Given the description of an element on the screen output the (x, y) to click on. 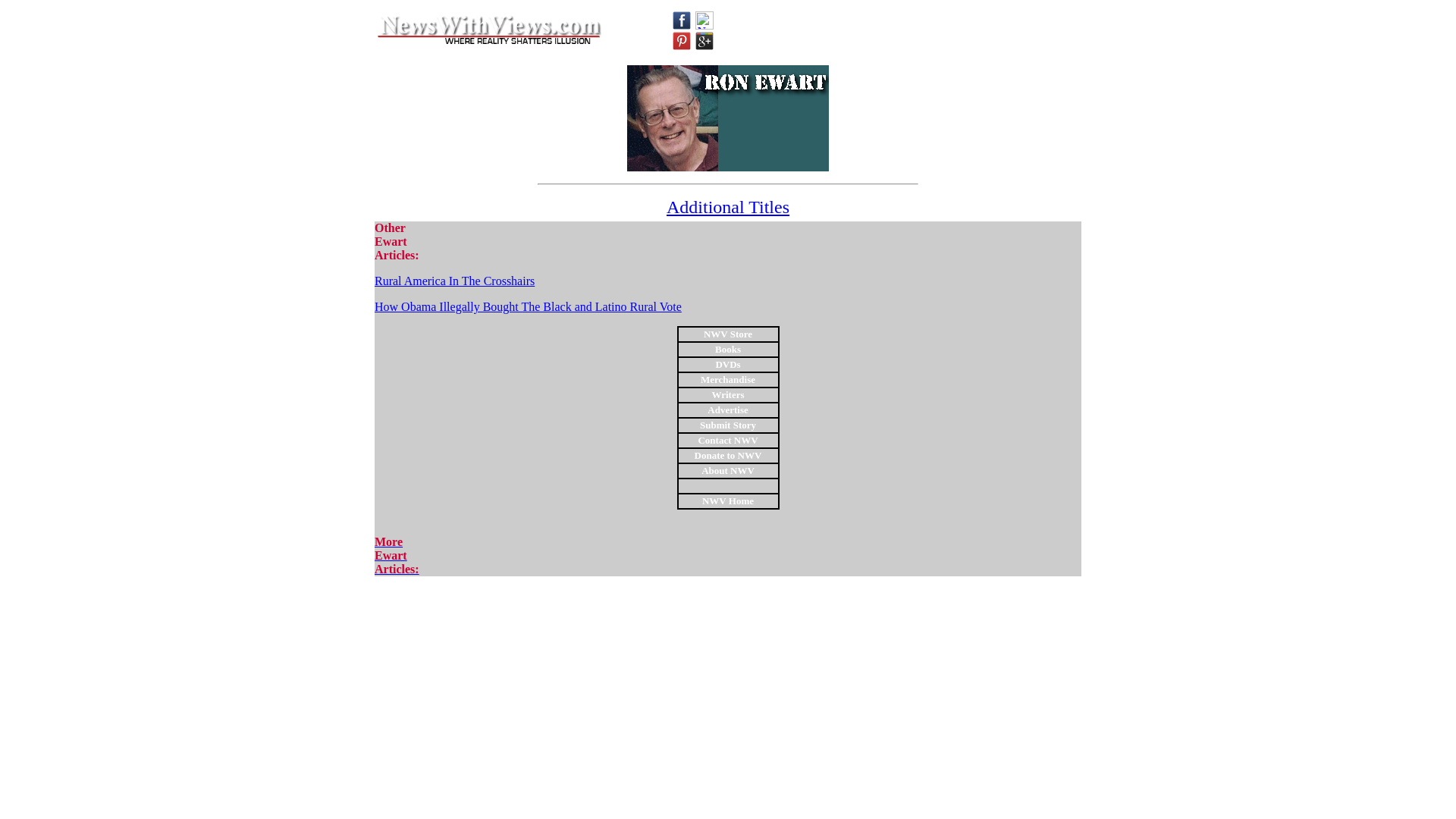
NWV Store (727, 332)
NewsWithViews on Facebook (681, 20)
NewsWithViews.com (488, 30)
Submit Story (727, 423)
About NWV (727, 469)
Donate to NWV (727, 454)
NewsWithViews on Twitter (704, 20)
Additional Titles (727, 207)
NWV Home (727, 499)
Advertise (727, 408)
Writers (727, 393)
Rural America In The Crosshairs (454, 280)
NewsWithViews on Pinterest (681, 40)
Contact NWV (396, 555)
